Given the description of an element on the screen output the (x, y) to click on. 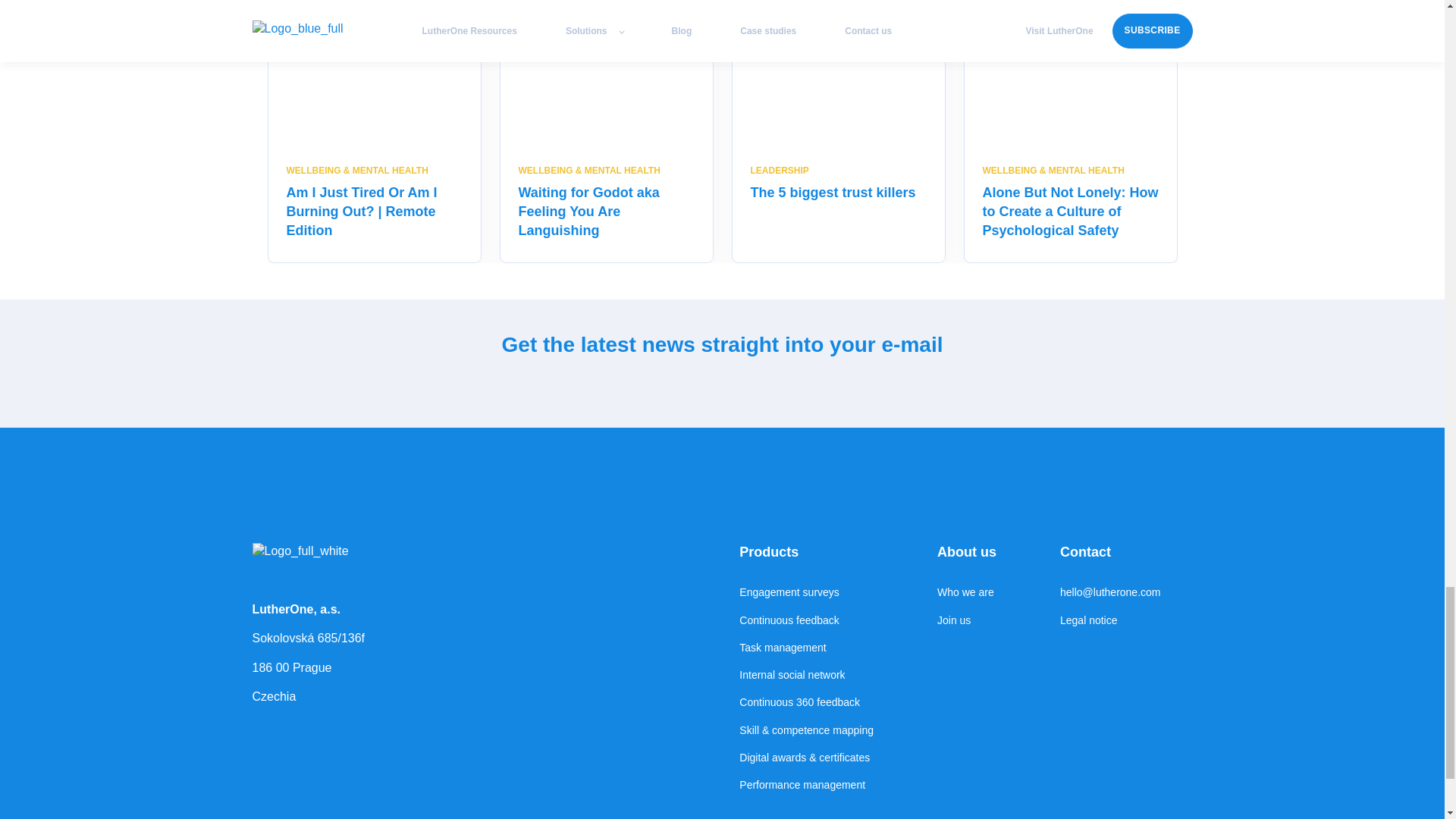
Continuous feedback (806, 620)
The 5 biggest trust killers (833, 192)
Waiting for Godot aka Feeling You Are Languishing (588, 211)
Engagement surveys (806, 592)
